Given the description of an element on the screen output the (x, y) to click on. 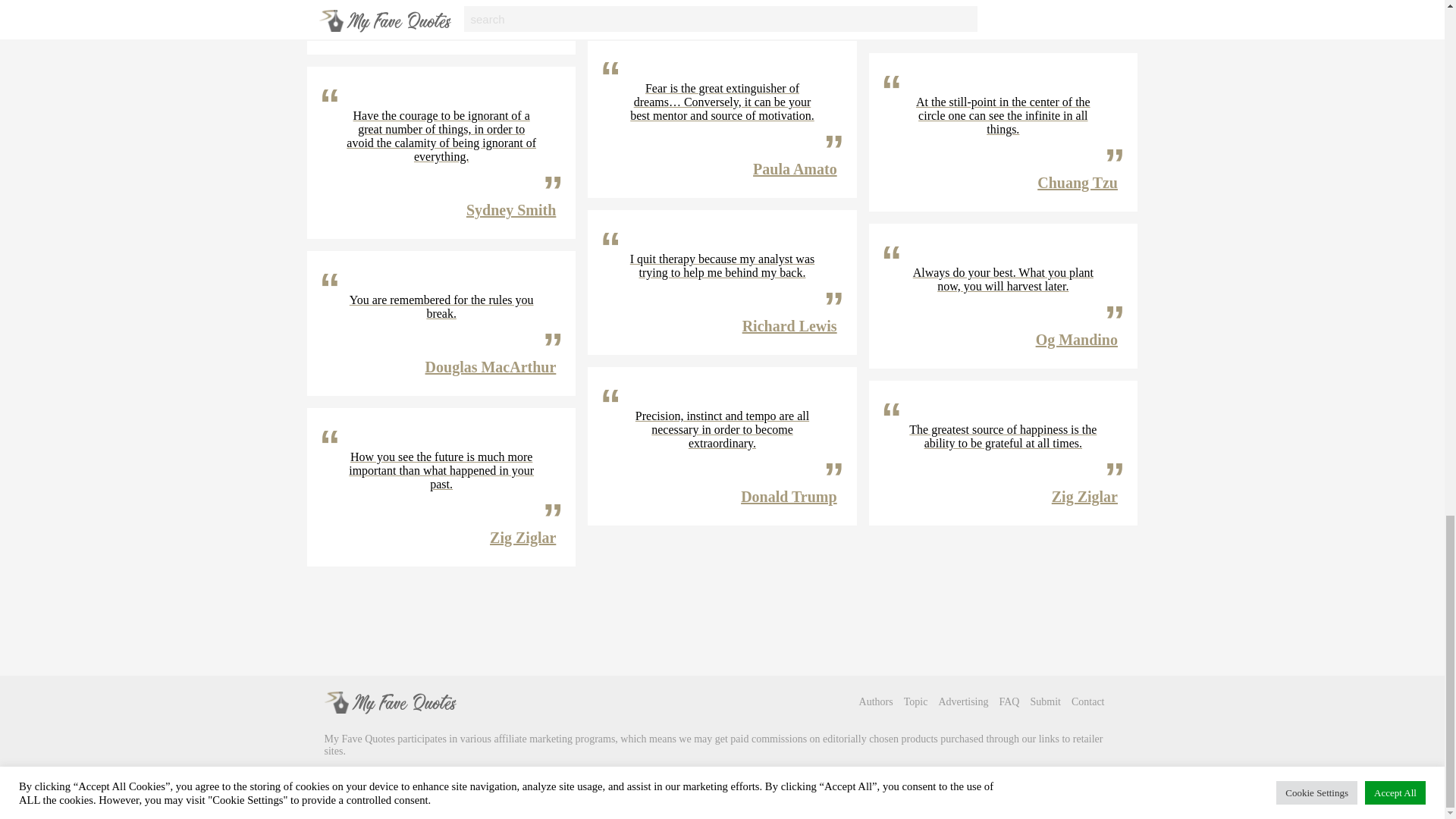
Donald Trump (508, 25)
Douglas MacArthur (490, 366)
You are remembered for the rules you break. (440, 307)
Sydney Smith (510, 209)
